Given the description of an element on the screen output the (x, y) to click on. 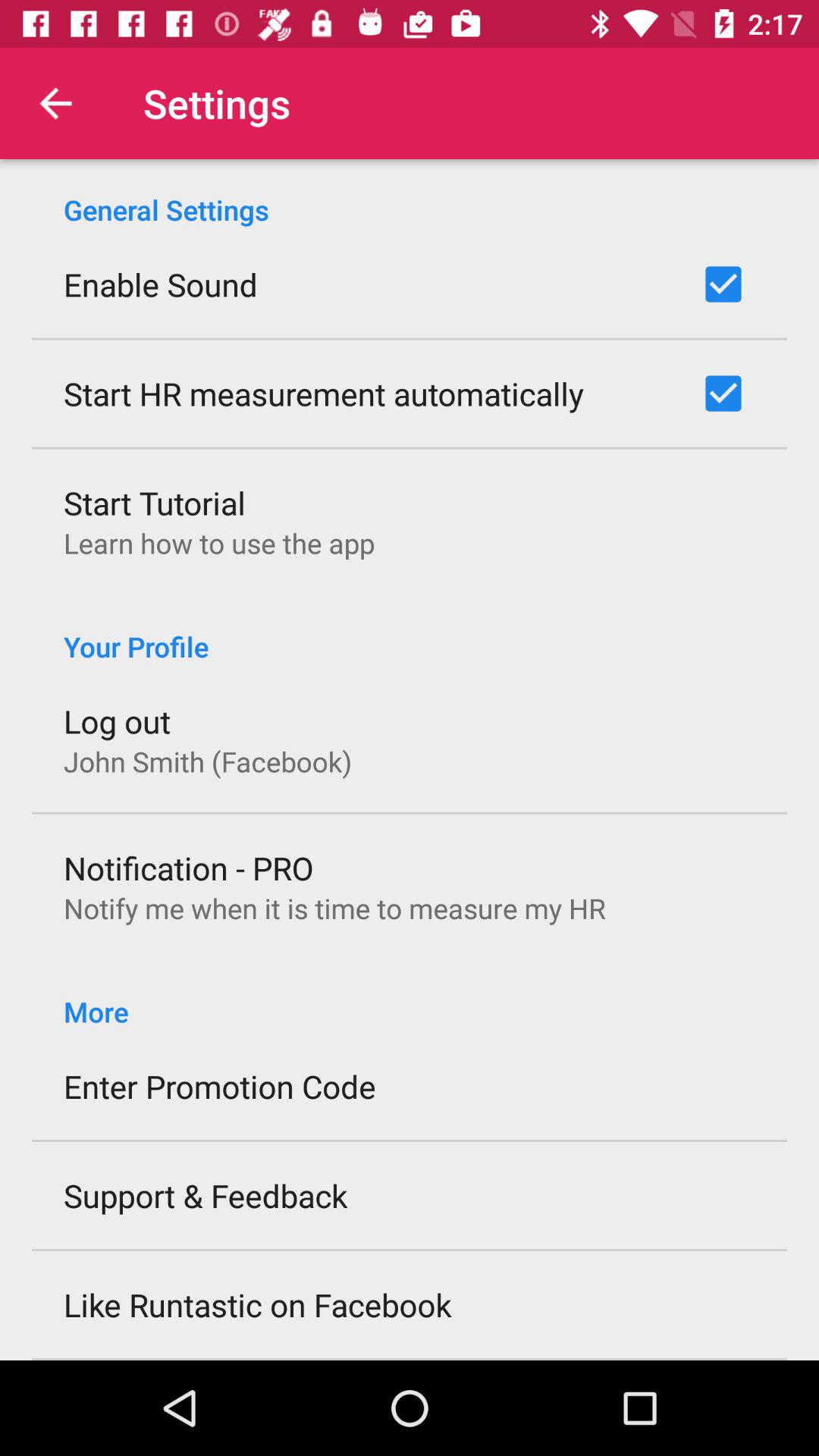
turn on item above the general settings icon (55, 103)
